Given the description of an element on the screen output the (x, y) to click on. 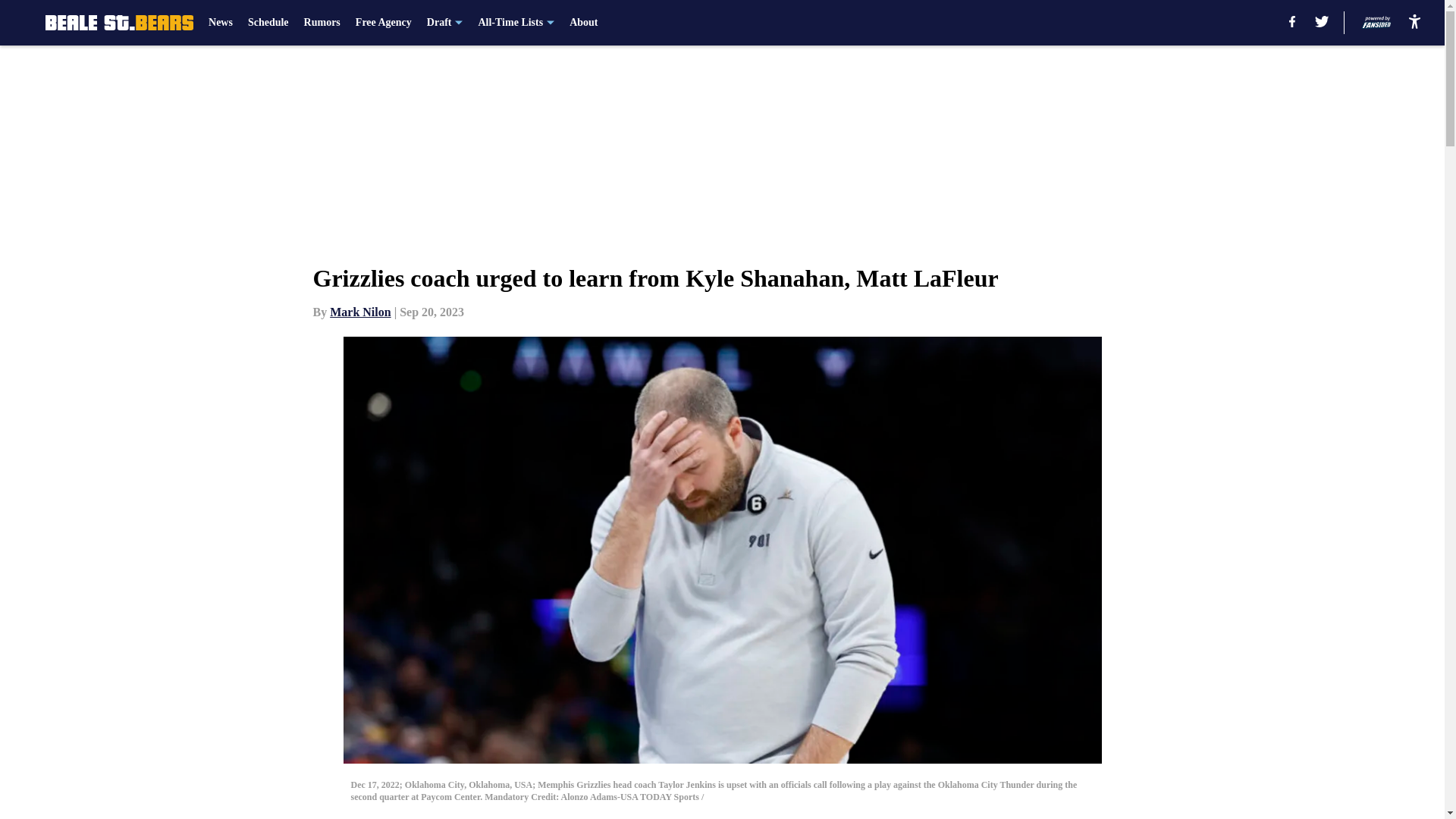
Mark Nilon (360, 311)
Rumors (322, 22)
All-Time Lists (515, 22)
News (220, 22)
Schedule (267, 22)
Draft (444, 22)
Free Agency (383, 22)
About (582, 22)
